Given the description of an element on the screen output the (x, y) to click on. 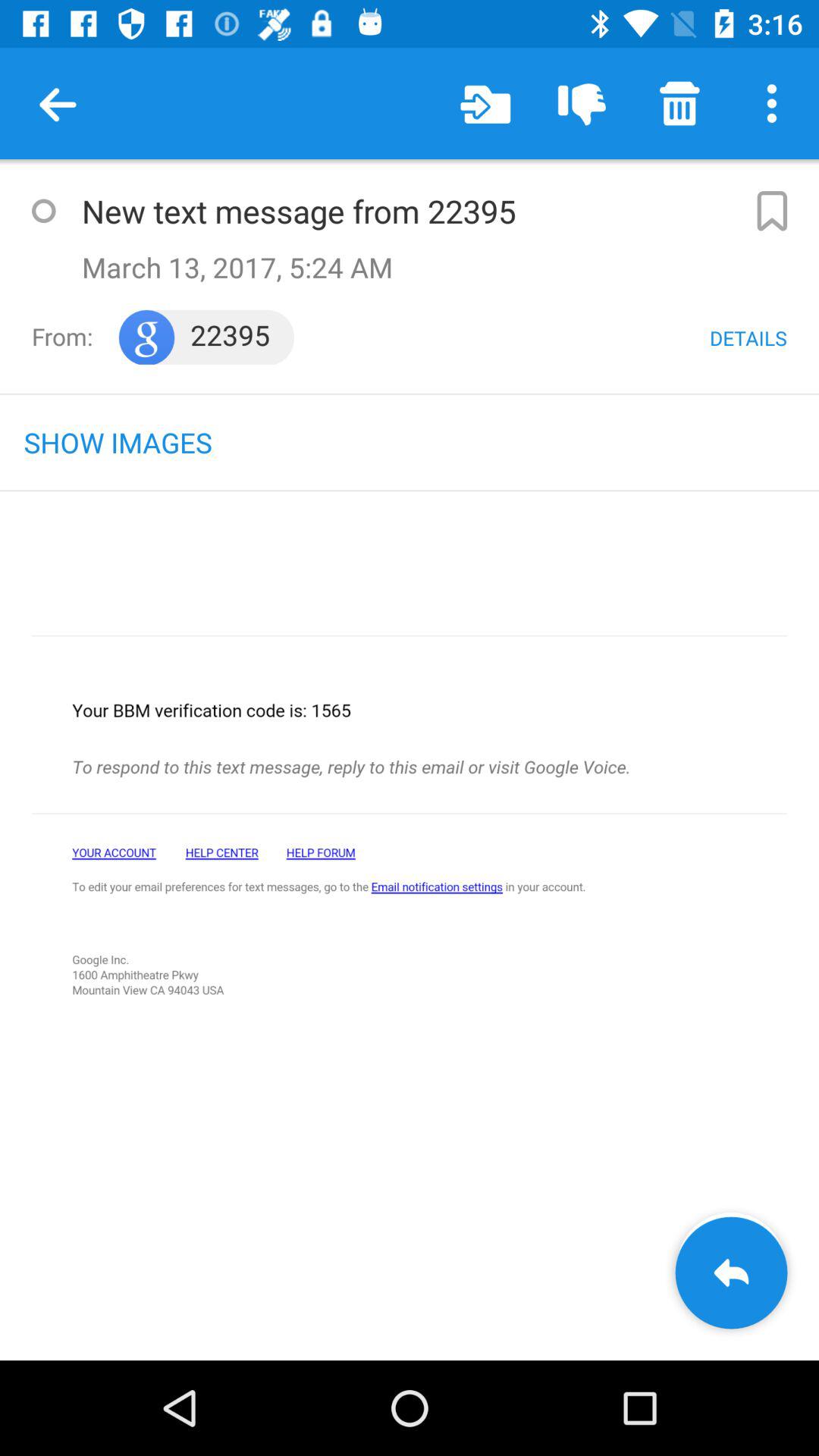
to make bookmark (771, 210)
